Given the description of an element on the screen output the (x, y) to click on. 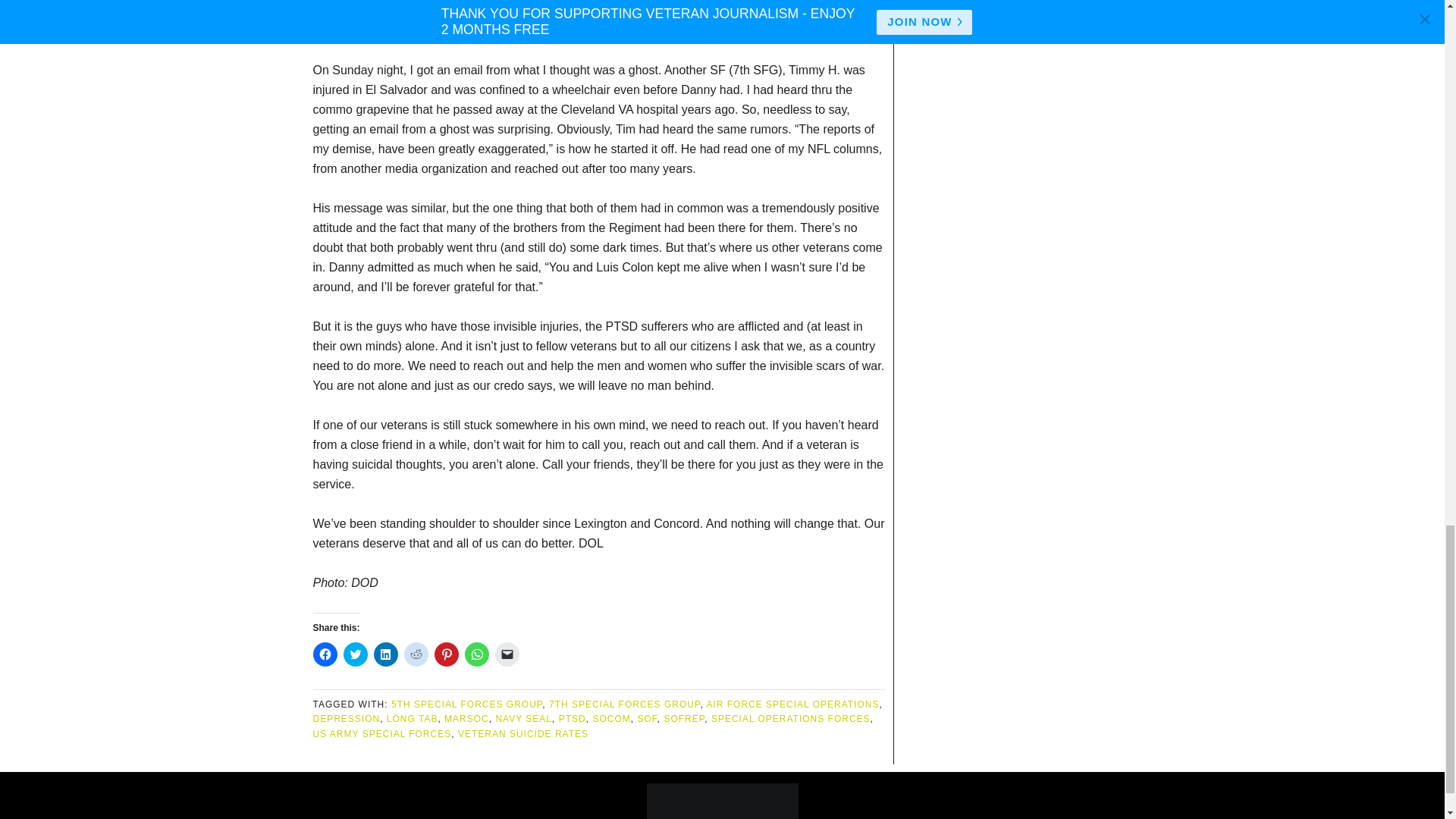
Click to share on Pinterest (445, 654)
Click to share on Reddit (415, 654)
AIR FORCE SPECIAL OPERATIONS (792, 704)
Click to share on Facebook (324, 654)
LONG TAB (412, 718)
DEPRESSION (346, 718)
5TH SPECIAL FORCES GROUP (466, 704)
MARSOC (466, 718)
Click to email a link to a friend (506, 654)
Click to share on WhatsApp (475, 654)
NAVY SEAL (523, 718)
7TH SPECIAL FORCES GROUP (624, 704)
Click to share on LinkedIn (384, 654)
Click to share on Twitter (354, 654)
